Given the description of an element on the screen output the (x, y) to click on. 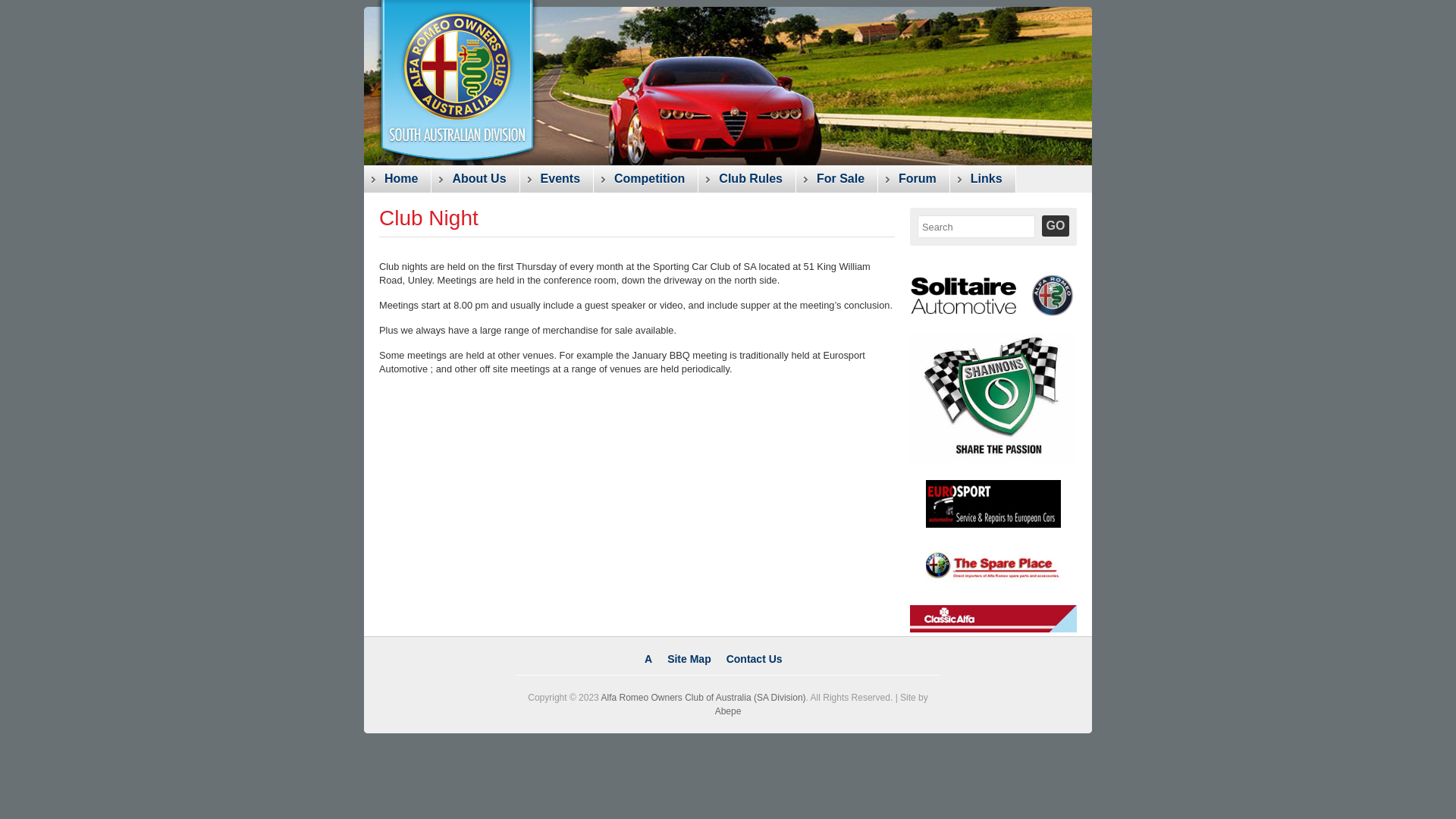
Abepe Element type: text (728, 711)
Alfa Romeo Owners Club of Australia (SA Division) Element type: text (702, 697)
Site Map Element type: text (688, 658)
Alfa Romeo Owners Club of Australia (SA Division) Element type: text (439, 82)
Competition Element type: text (645, 178)
About Us Element type: text (475, 178)
Club Rules Element type: text (747, 178)
Skip to content Element type: text (380, 205)
For Sale Element type: text (837, 178)
Links Element type: text (983, 178)
GO Element type: text (1055, 225)
Forum Element type: text (914, 178)
Contact Us Element type: text (754, 658)
Home Element type: text (397, 178)
Events Element type: text (556, 178)
A Element type: text (648, 658)
